Given the description of an element on the screen output the (x, y) to click on. 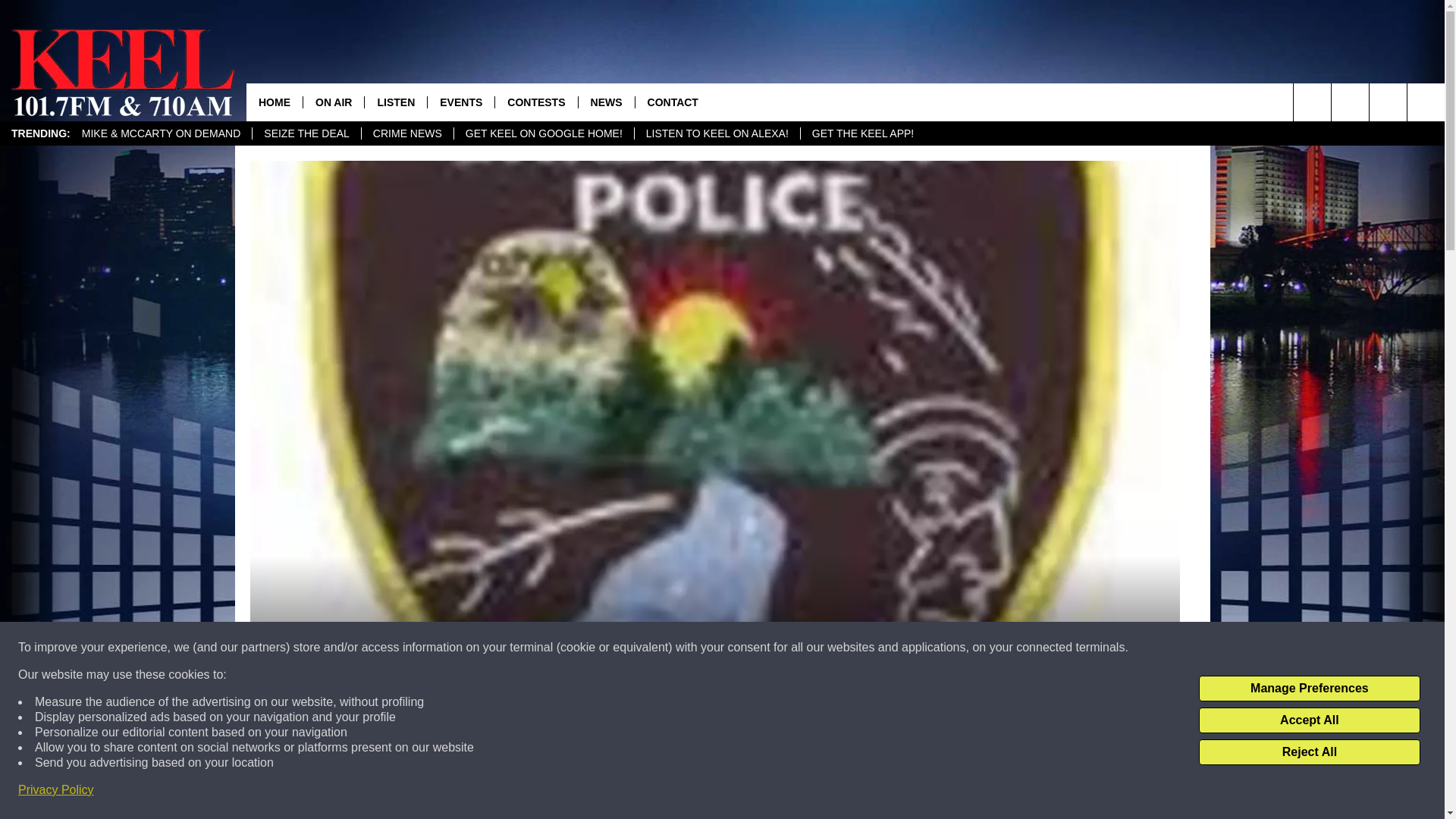
GET KEEL ON GOOGLE HOME! (542, 133)
CRIME NEWS (406, 133)
NEWS (606, 102)
LISTEN TO KEEL ON ALEXA! (716, 133)
GET THE KEEL APP! (861, 133)
Privacy Policy (55, 789)
Reject All (1309, 751)
Accept All (1309, 720)
Share on Twitter (912, 791)
SEIZE THE DEAL (306, 133)
LISTEN (395, 102)
Share on Facebook (517, 791)
ON AIR (333, 102)
CONTESTS (535, 102)
Manage Preferences (1309, 688)
